Given the description of an element on the screen output the (x, y) to click on. 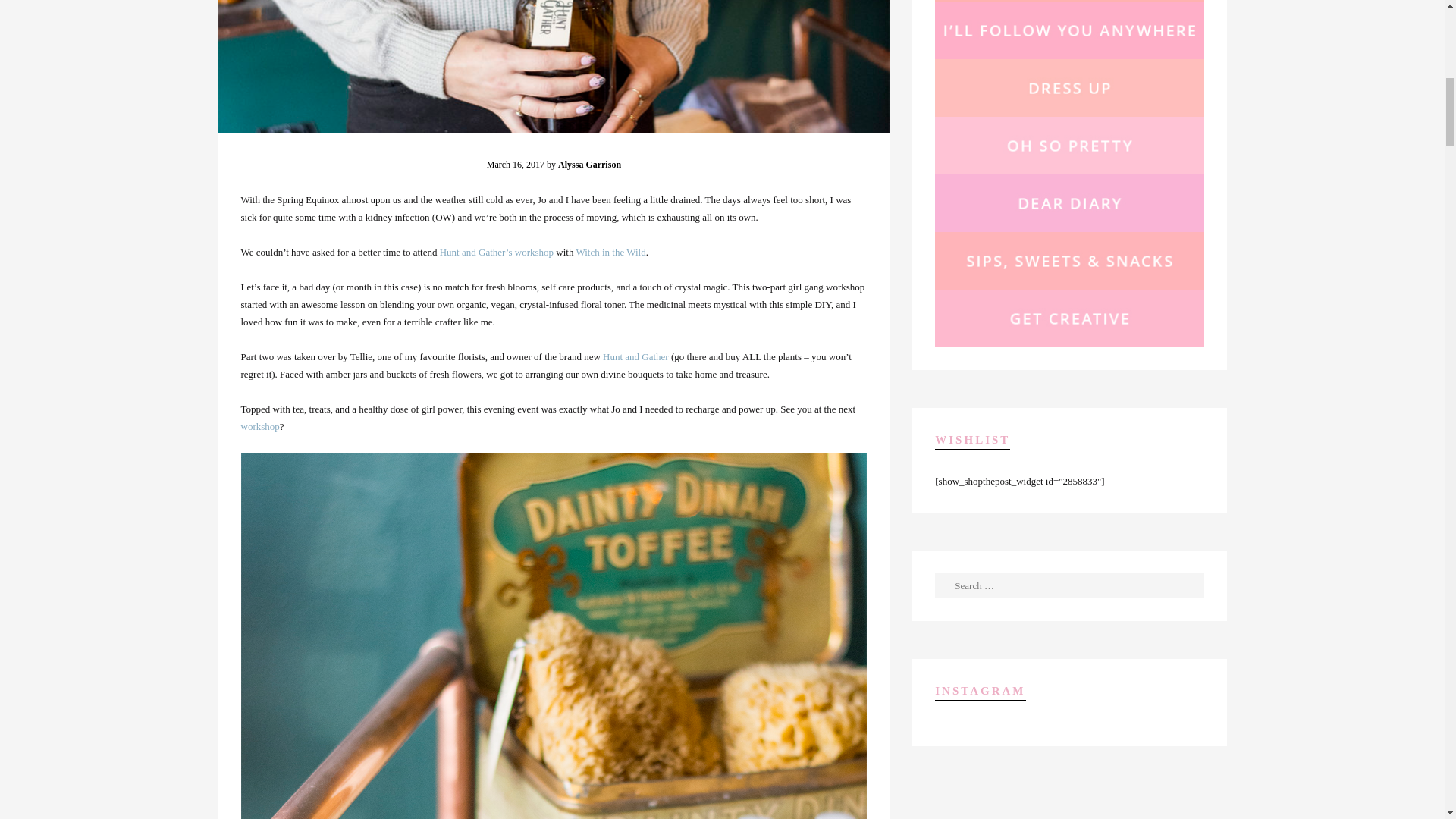
Hunt and Gather (635, 356)
Alyssa Garrison (589, 163)
March 16, 2017 (515, 163)
workshop (260, 426)
workshop (534, 251)
Witch in the Wild (610, 251)
